Given the description of an element on the screen output the (x, y) to click on. 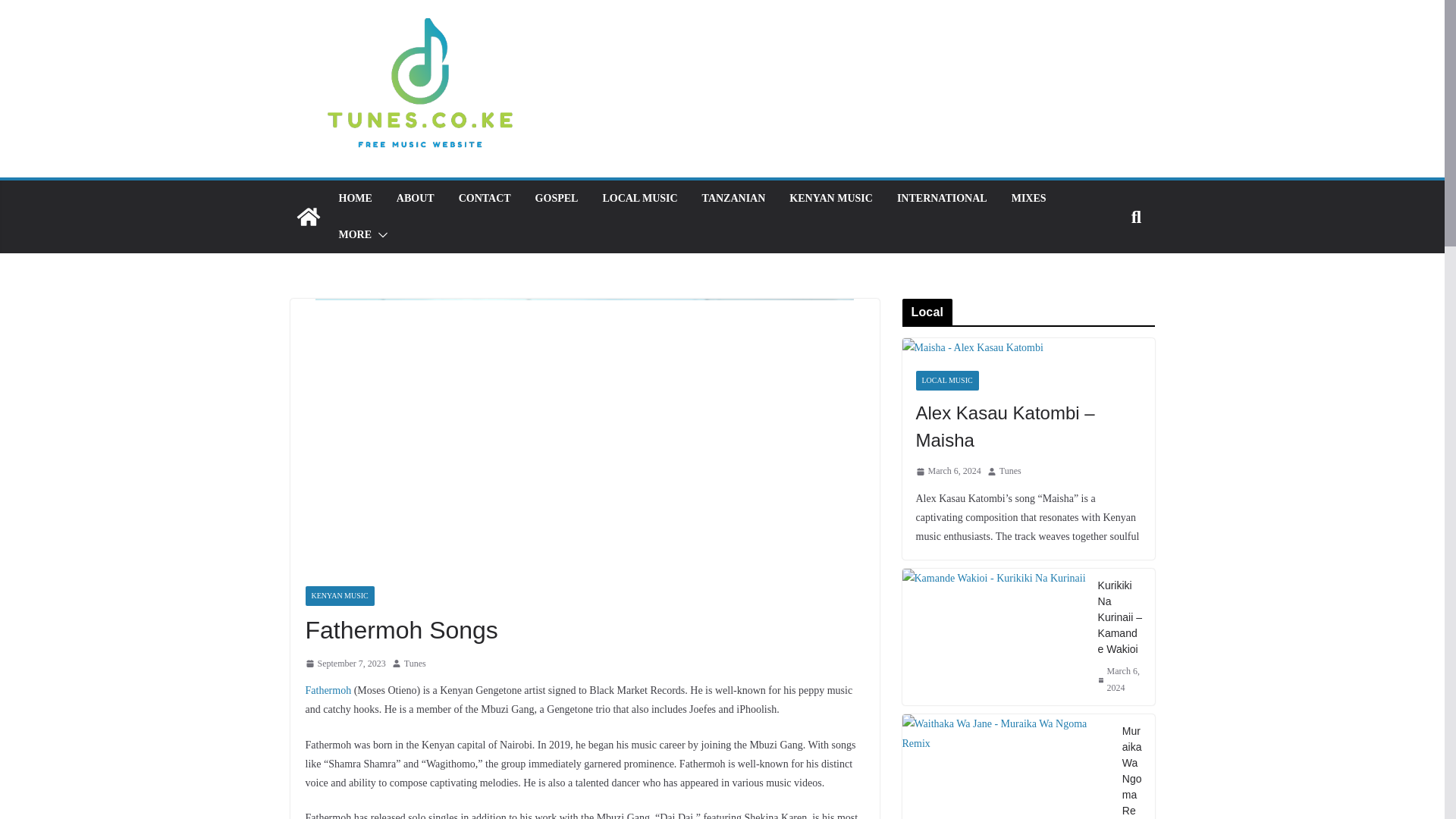
KENYAN MUSIC (830, 198)
INTERNATIONAL (941, 198)
Tunes (415, 664)
LOCAL MUSIC (639, 198)
TANZANIAN (733, 198)
MIXES (1028, 198)
9:12 am (344, 664)
KENYAN MUSIC (339, 596)
GOSPEL (556, 198)
Tunes.co.ke (307, 217)
Tunes (415, 664)
Fathermoh (327, 690)
ABOUT (414, 198)
CONTACT (484, 198)
HOME (354, 198)
